Given the description of an element on the screen output the (x, y) to click on. 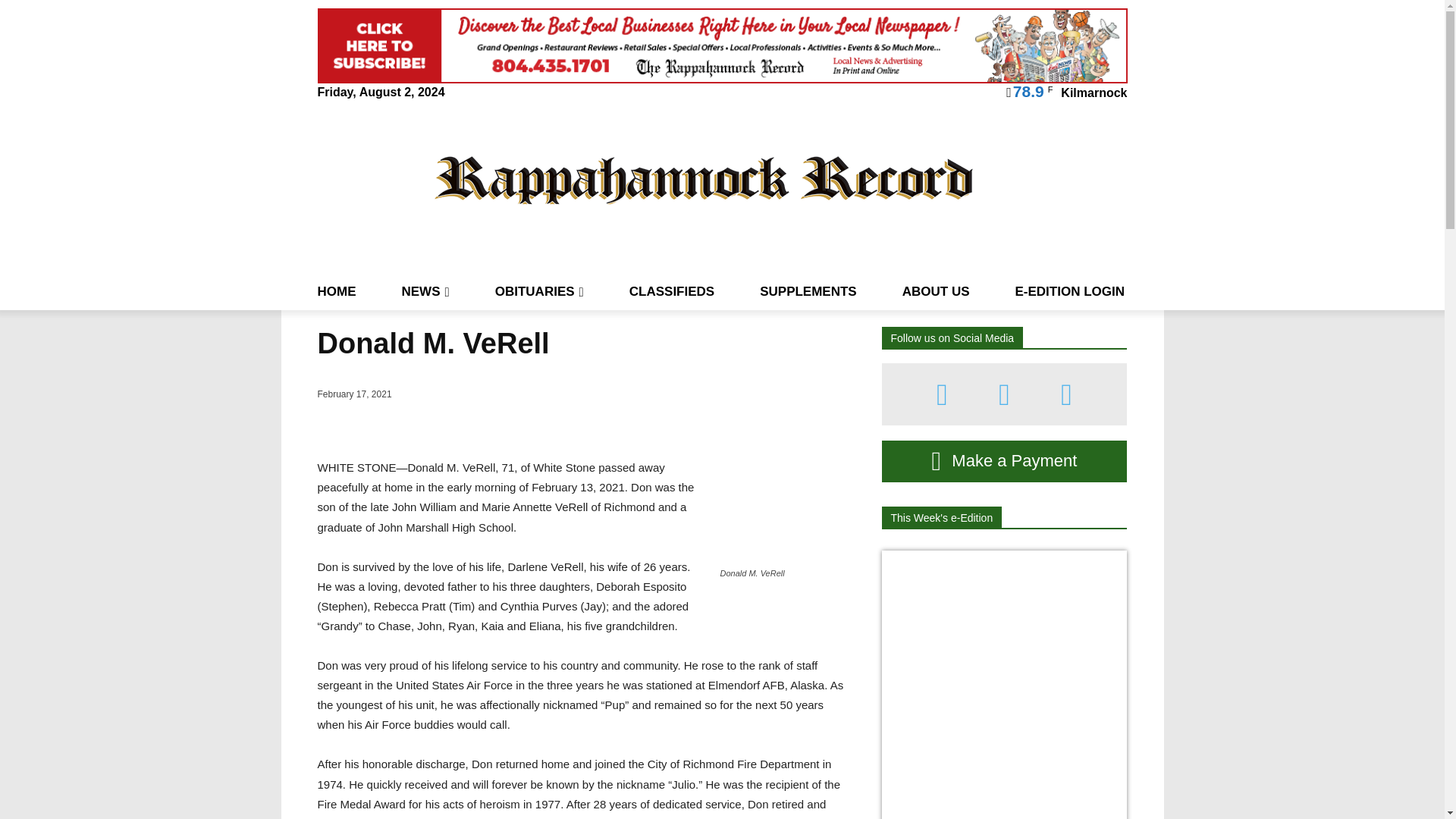
Facebook (941, 393)
CLASSIFIEDS (671, 291)
Make a Payment (1003, 461)
Instagram (1003, 393)
OBITUARIES (539, 291)
This Week's e-Edition (940, 516)
ABOUT US (935, 291)
Rappahannock Record (703, 179)
Twitter (1066, 393)
E-EDITION LOGIN (1069, 291)
